Given the description of an element on the screen output the (x, y) to click on. 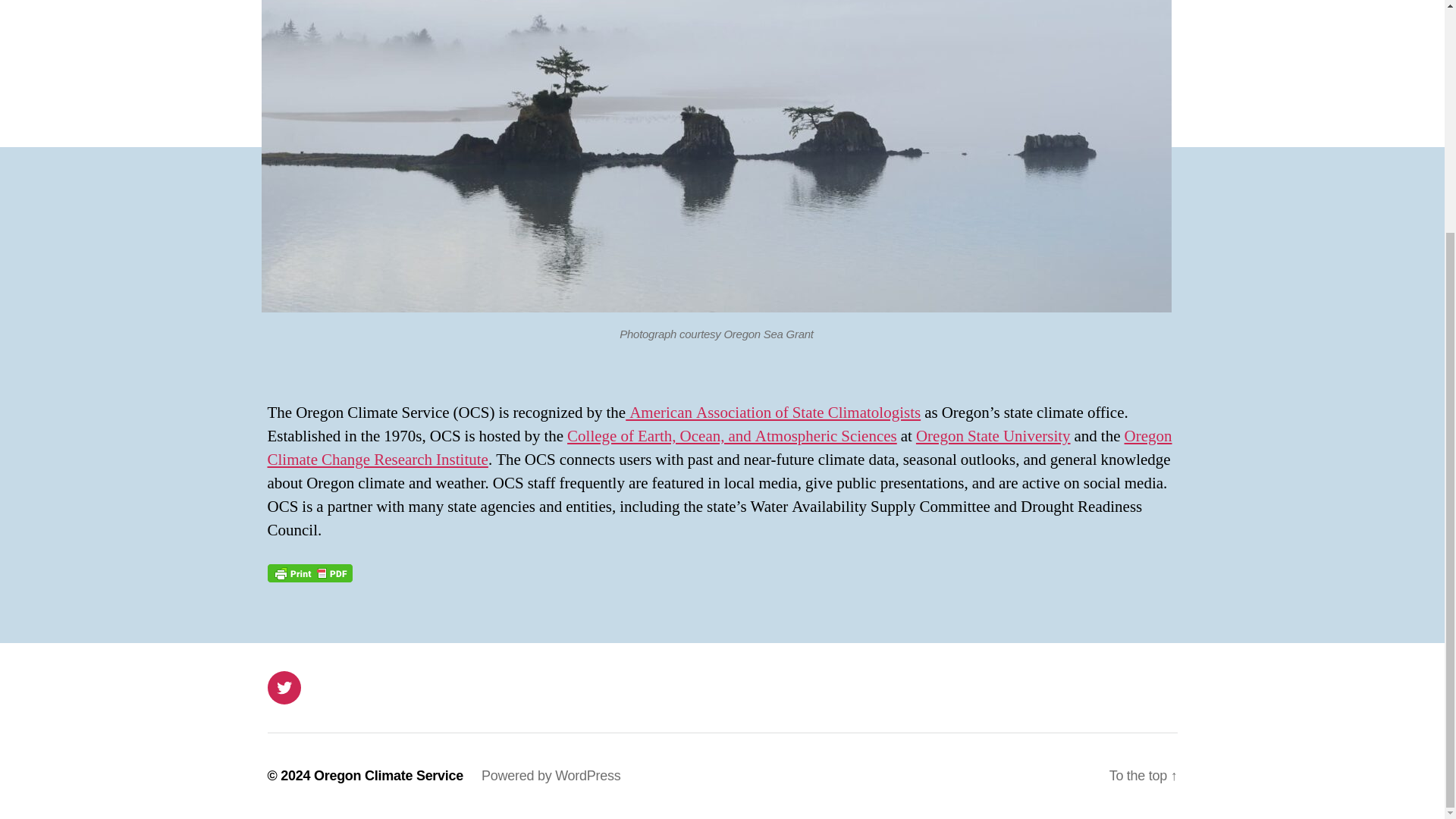
American Association of State Climatologists (773, 412)
College of Earth, Ocean, and Atmospheric Sciences (731, 435)
Oregon Climate Change Research Institute (719, 447)
Oregon State University (992, 435)
Oregon Climate Service (388, 775)
Menu Item (282, 687)
Powered by WordPress (550, 775)
